Given the description of an element on the screen output the (x, y) to click on. 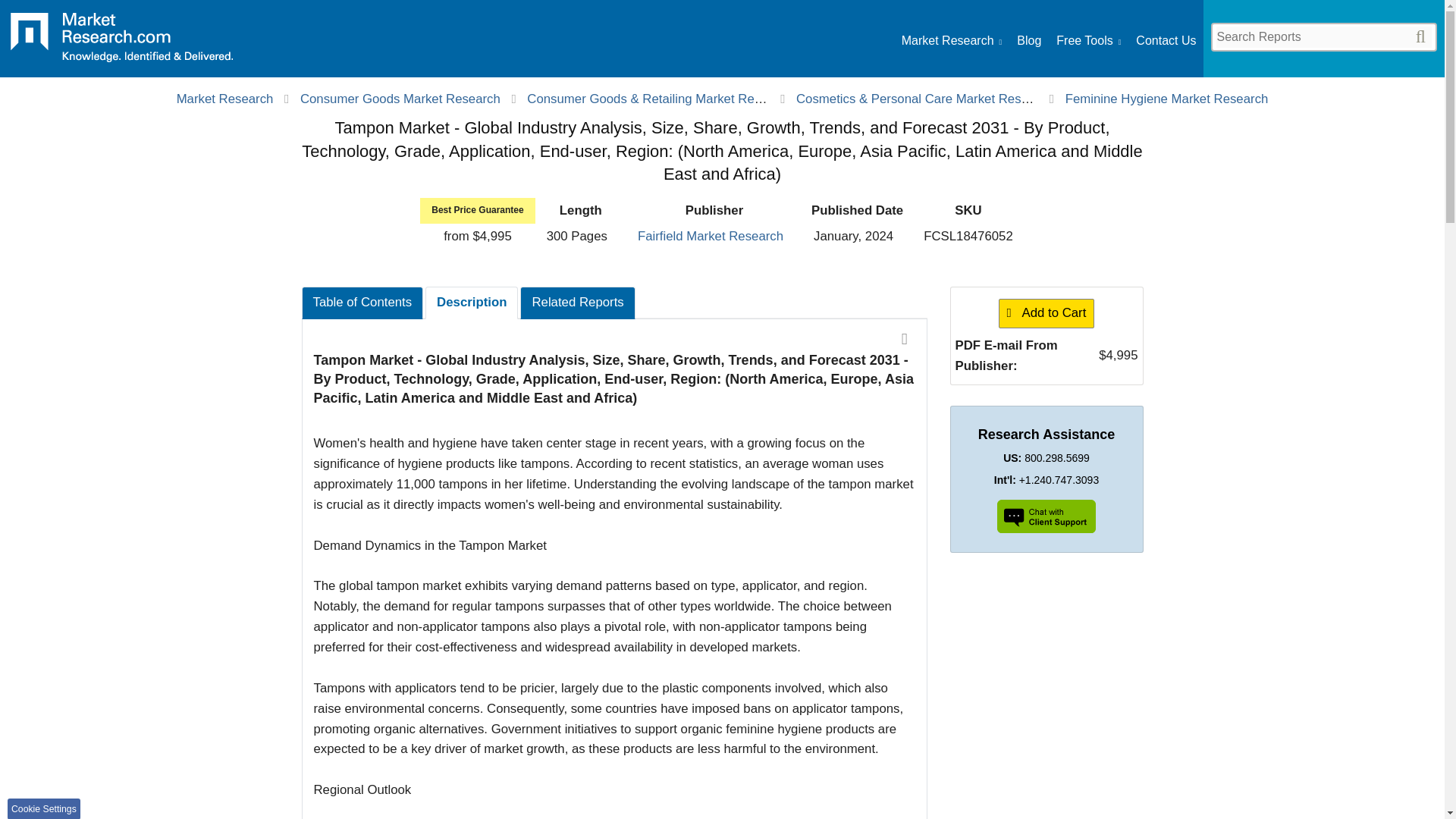
Description (471, 302)
Stay up-to-date on the latest in market research (1028, 40)
Table of Contents (362, 302)
Market Research (224, 98)
Free Tools (1089, 40)
Search for specific text within reports (1323, 36)
Learn more about market research with these free tools (1089, 40)
Related Reports (576, 302)
Get in touch with MarketResearch.com (1165, 40)
Blog (1028, 40)
Consumer Goods Market Research (399, 98)
Contact Us (1165, 40)
Feminine Hygiene Market Research (1166, 98)
Market Research (951, 40)
Fairfield Market Research (710, 236)
